Given the description of an element on the screen output the (x, y) to click on. 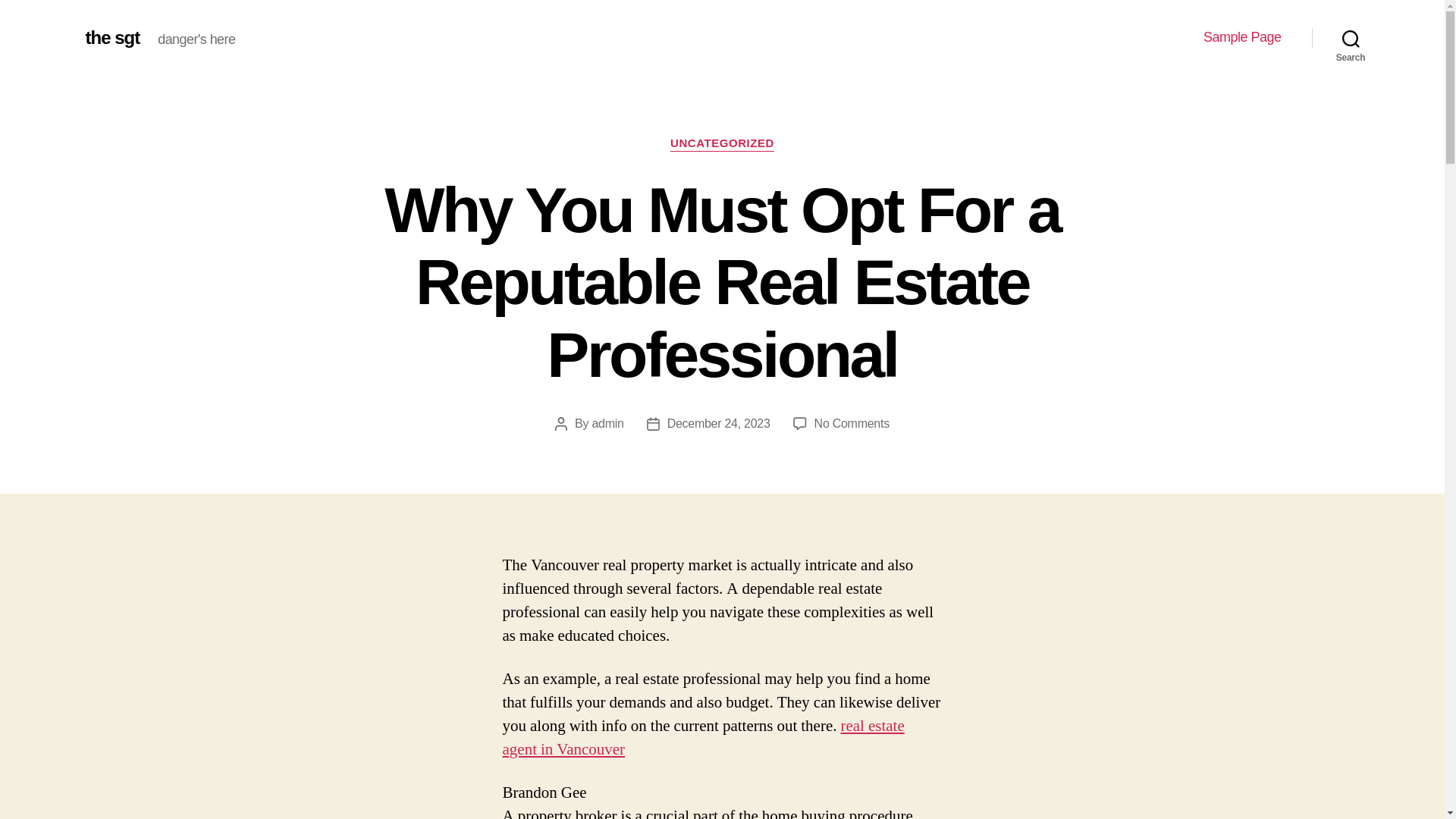
the sgt (111, 37)
Sample Page (1242, 37)
real estate agent in Vancouver (703, 737)
admin (607, 422)
UNCATEGORIZED (721, 143)
December 24, 2023 (718, 422)
Search (1350, 37)
